Given the description of an element on the screen output the (x, y) to click on. 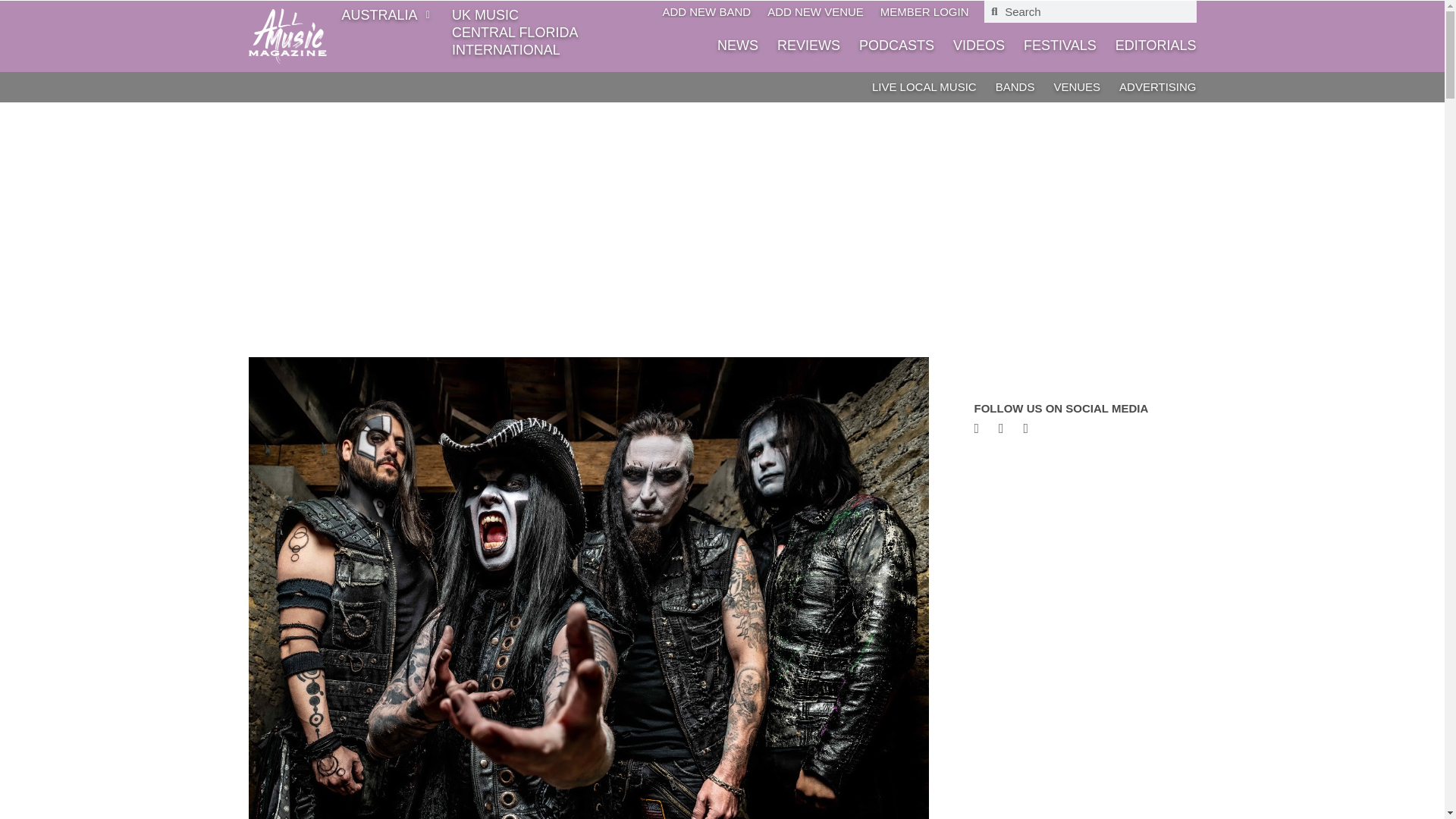
UK MUSIC (515, 15)
FESTIVALS (1059, 45)
VENUES (1076, 87)
BANDS (1015, 87)
ADD NEW BAND (706, 11)
VIDEOS (978, 45)
EDITORIALS (1155, 45)
CENTRAL FLORIDA (515, 32)
MEMBER LOGIN (924, 11)
PODCASTS (896, 45)
